Given the description of an element on the screen output the (x, y) to click on. 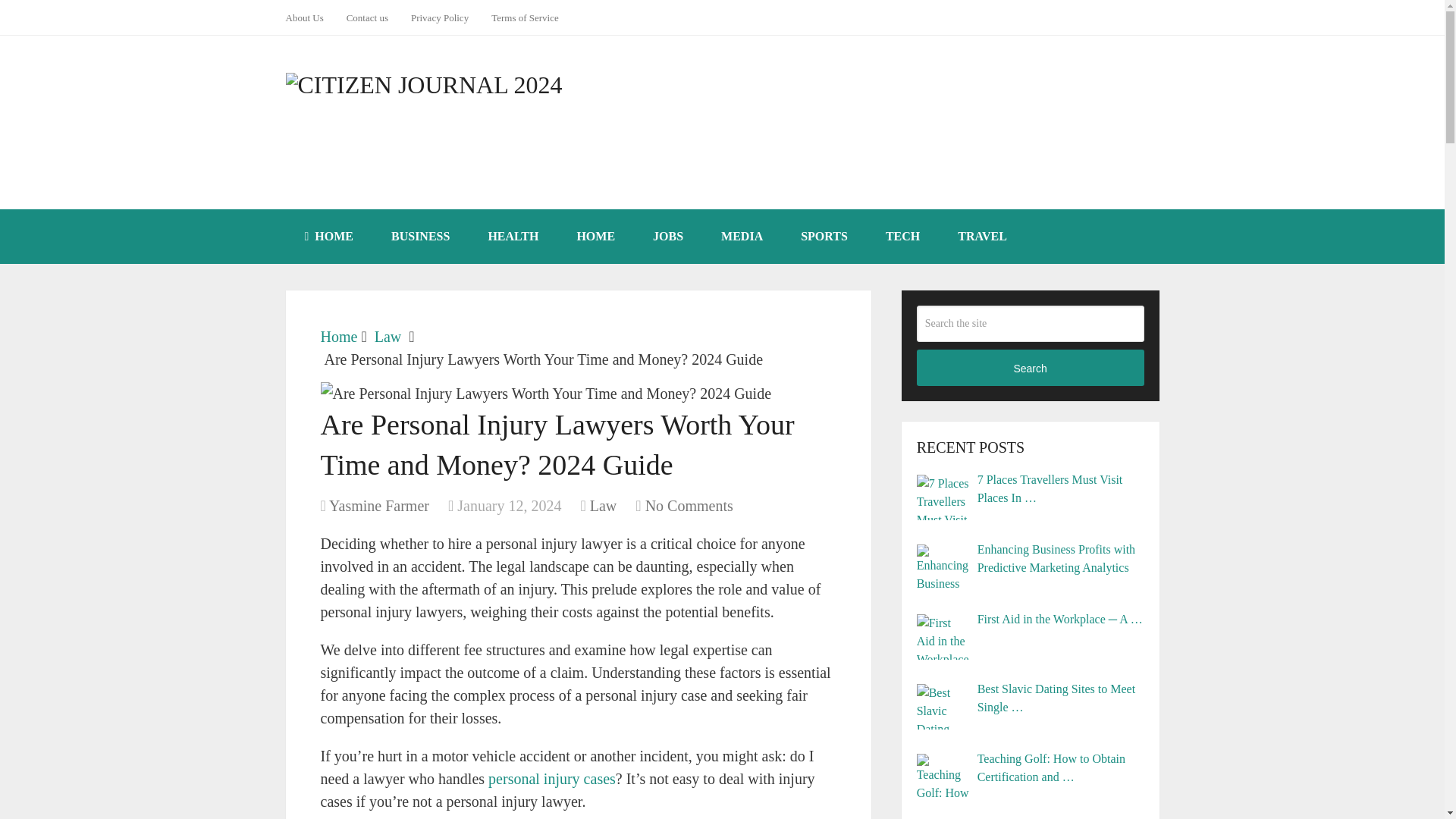
personal injury cases (551, 778)
View all posts in Law (603, 505)
TECH (902, 236)
Yasmine Farmer (379, 505)
Home (338, 336)
Law (387, 336)
JOBS (667, 236)
HOME (328, 236)
Privacy Policy (439, 17)
Terms of Service (525, 17)
